Given the description of an element on the screen output the (x, y) to click on. 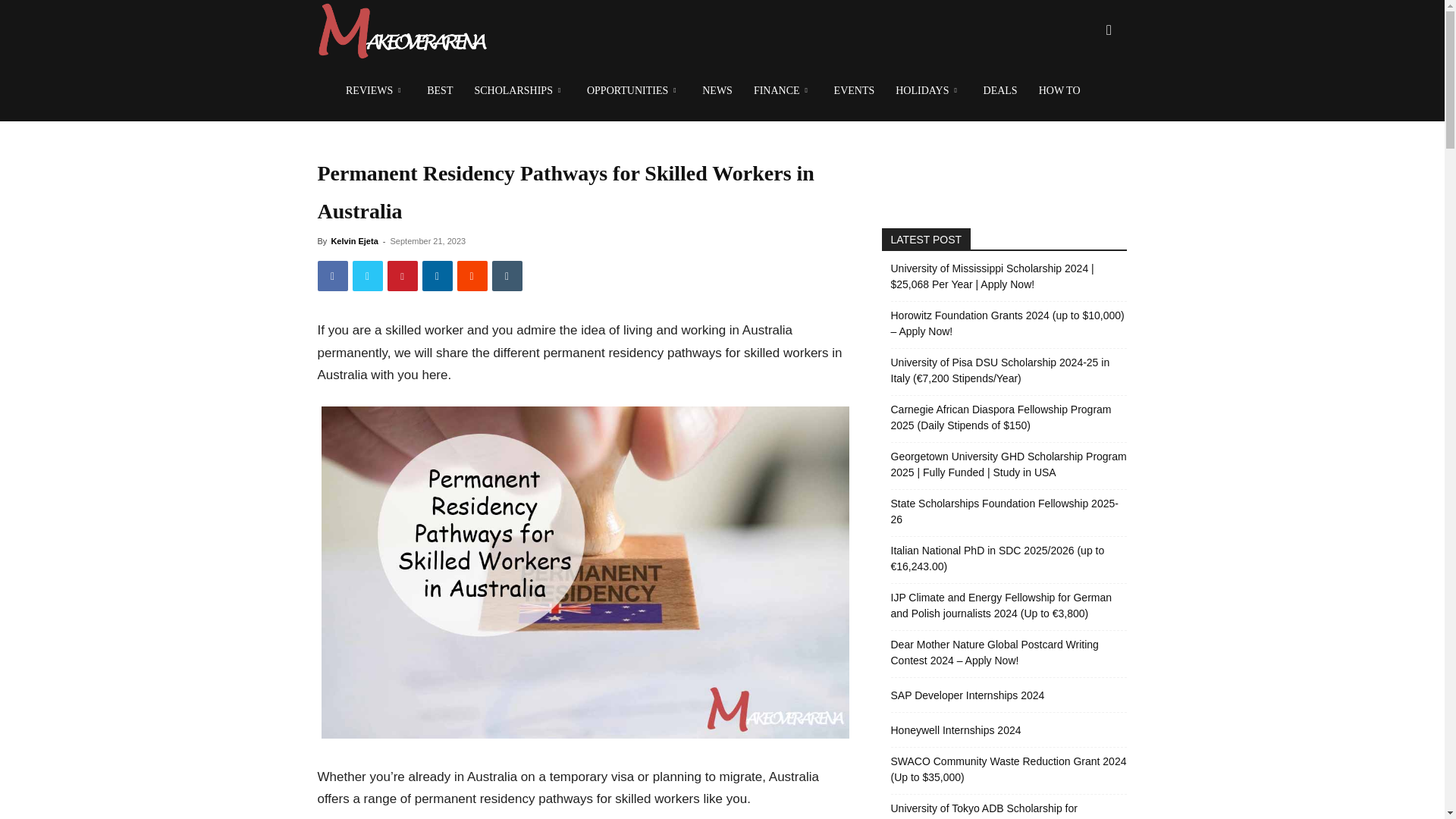
Facebook (332, 276)
ReddIt (471, 276)
Linkedin (436, 276)
Tumblr (506, 276)
Pinterest (401, 276)
Twitter (366, 276)
